Given the description of an element on the screen output the (x, y) to click on. 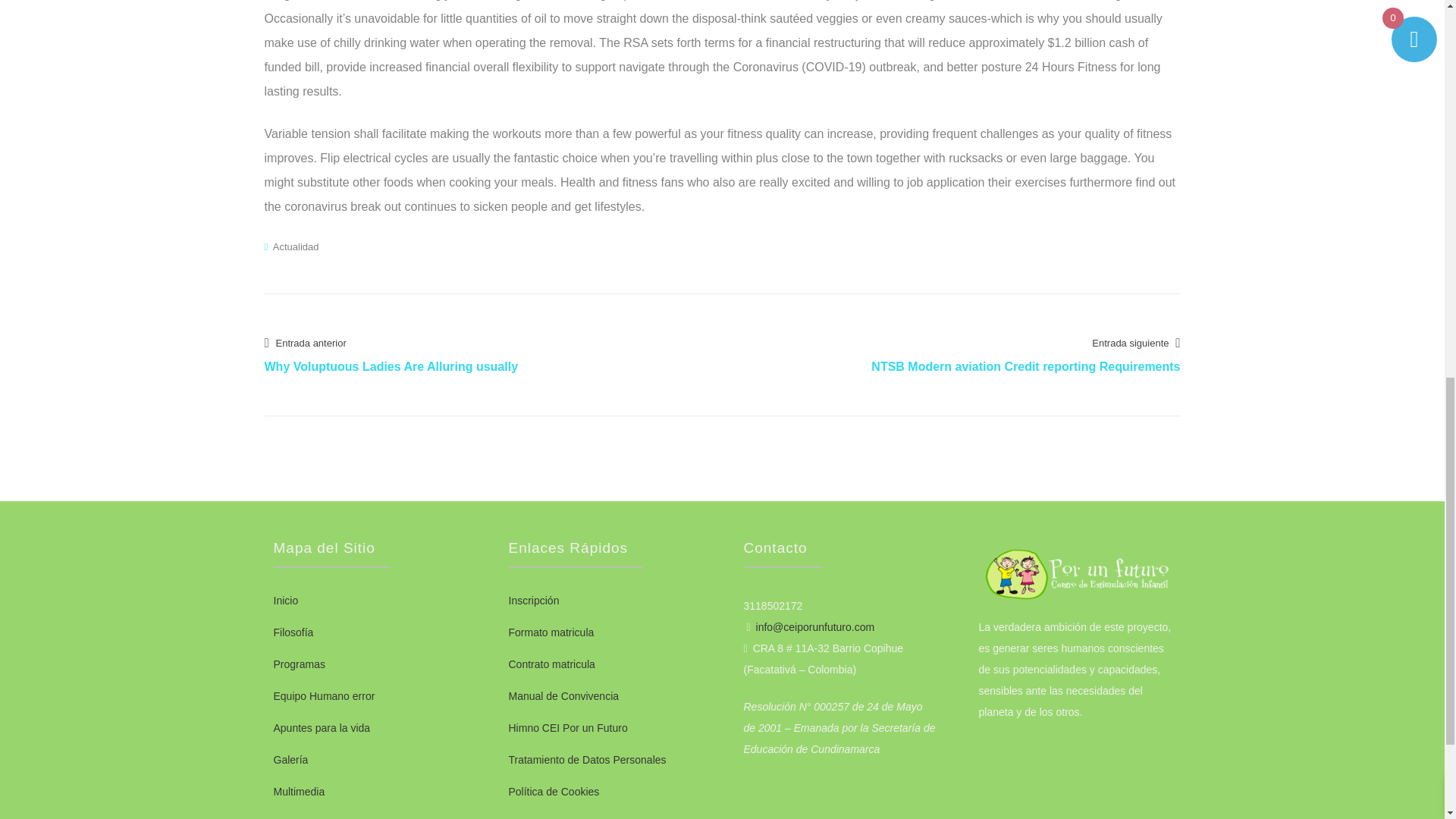
Volver arriba (1414, 15)
Apuntes para la vida (321, 727)
Formato matricula (551, 632)
Equipo Humano error (323, 695)
Contrato matricula (551, 664)
Actualidad (295, 246)
Multimedia (298, 791)
Programas (298, 664)
